Given the description of an element on the screen output the (x, y) to click on. 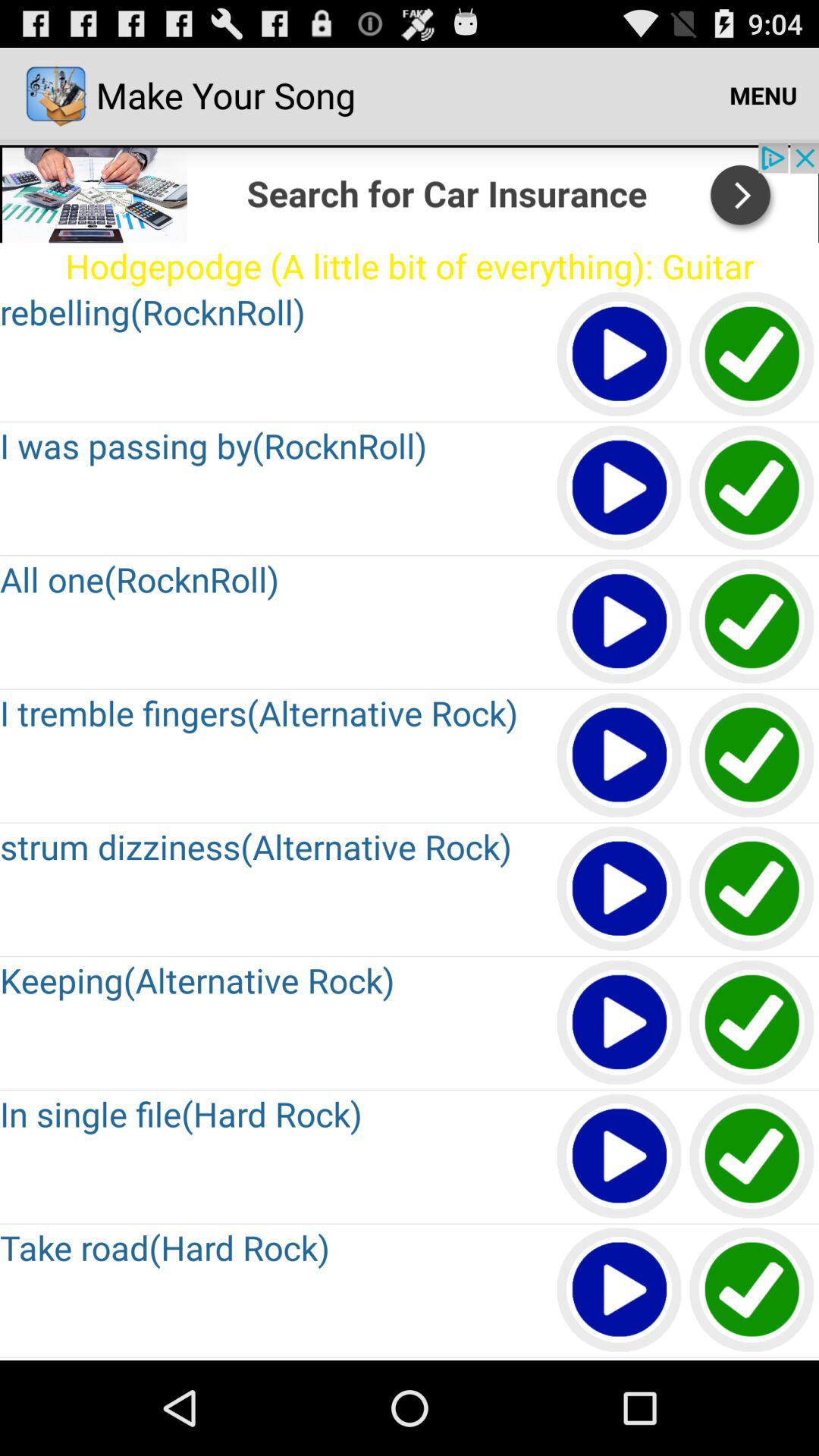
go to play (619, 354)
